Given the description of an element on the screen output the (x, y) to click on. 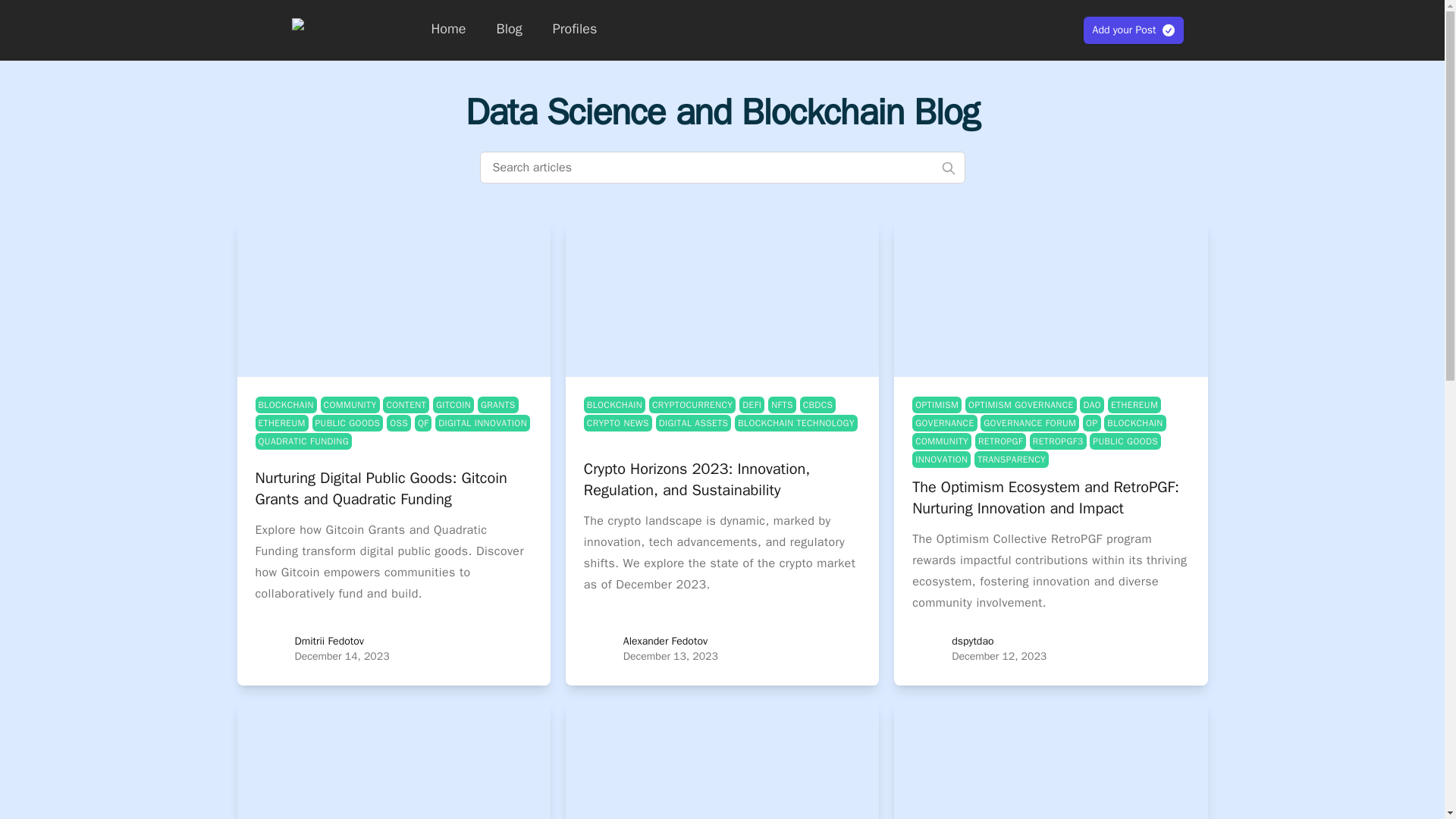
BLOCKCHAIN (614, 403)
GOVERNANCE (944, 421)
CBDCS (817, 403)
OPTIMISM (936, 403)
QUADRATIC FUNDING (303, 440)
PUBLIC GOODS (348, 421)
CONTENT (405, 403)
Profiles (575, 28)
BLOCKCHAIN (1134, 421)
